Given the description of an element on the screen output the (x, y) to click on. 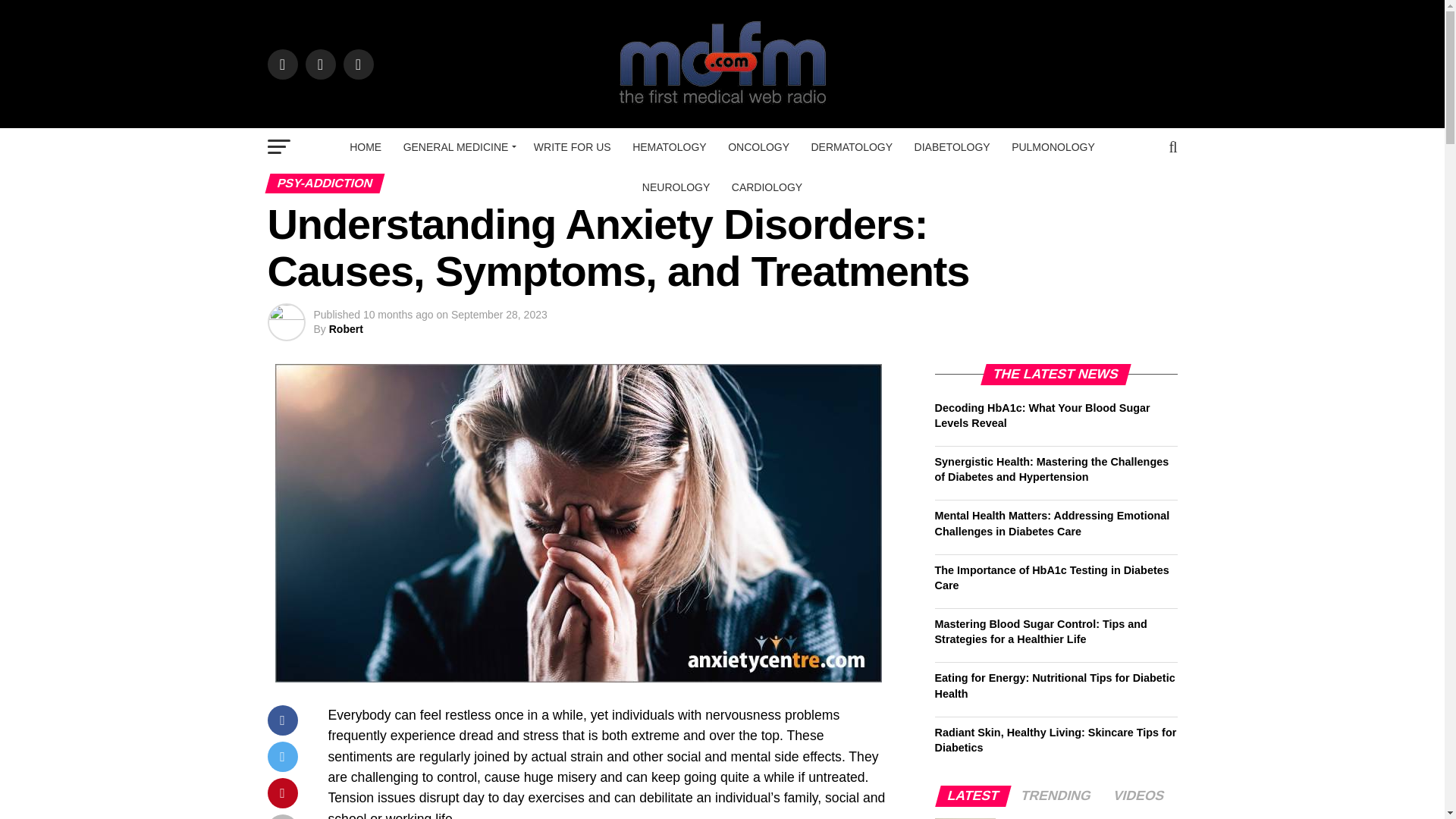
WRITE FOR US (572, 146)
ONCOLOGY (758, 146)
HEMATOLOGY (669, 146)
Posts by Robert (345, 328)
HOME (365, 146)
GENERAL MEDICINE (457, 146)
